Given the description of an element on the screen output the (x, y) to click on. 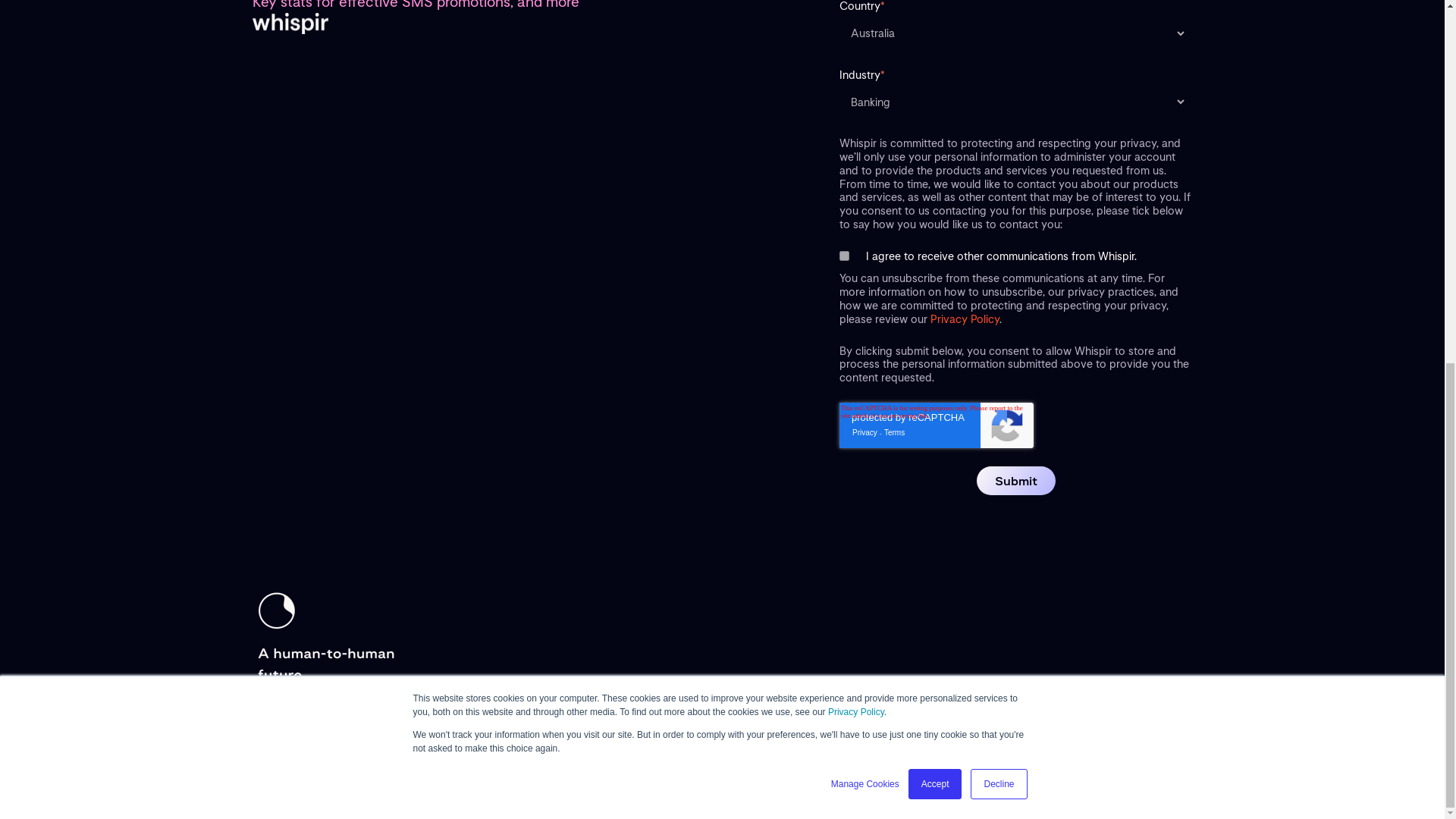
true (843, 255)
Manage Cookies (865, 136)
Privacy Policy (432, 748)
reCAPTCHA (935, 456)
Terms of Service (363, 748)
Submit (1015, 480)
Privacy Policy (855, 63)
Log into Whispir (1142, 749)
Accept (935, 136)
Privacy Policy (964, 318)
